Given the description of an element on the screen output the (x, y) to click on. 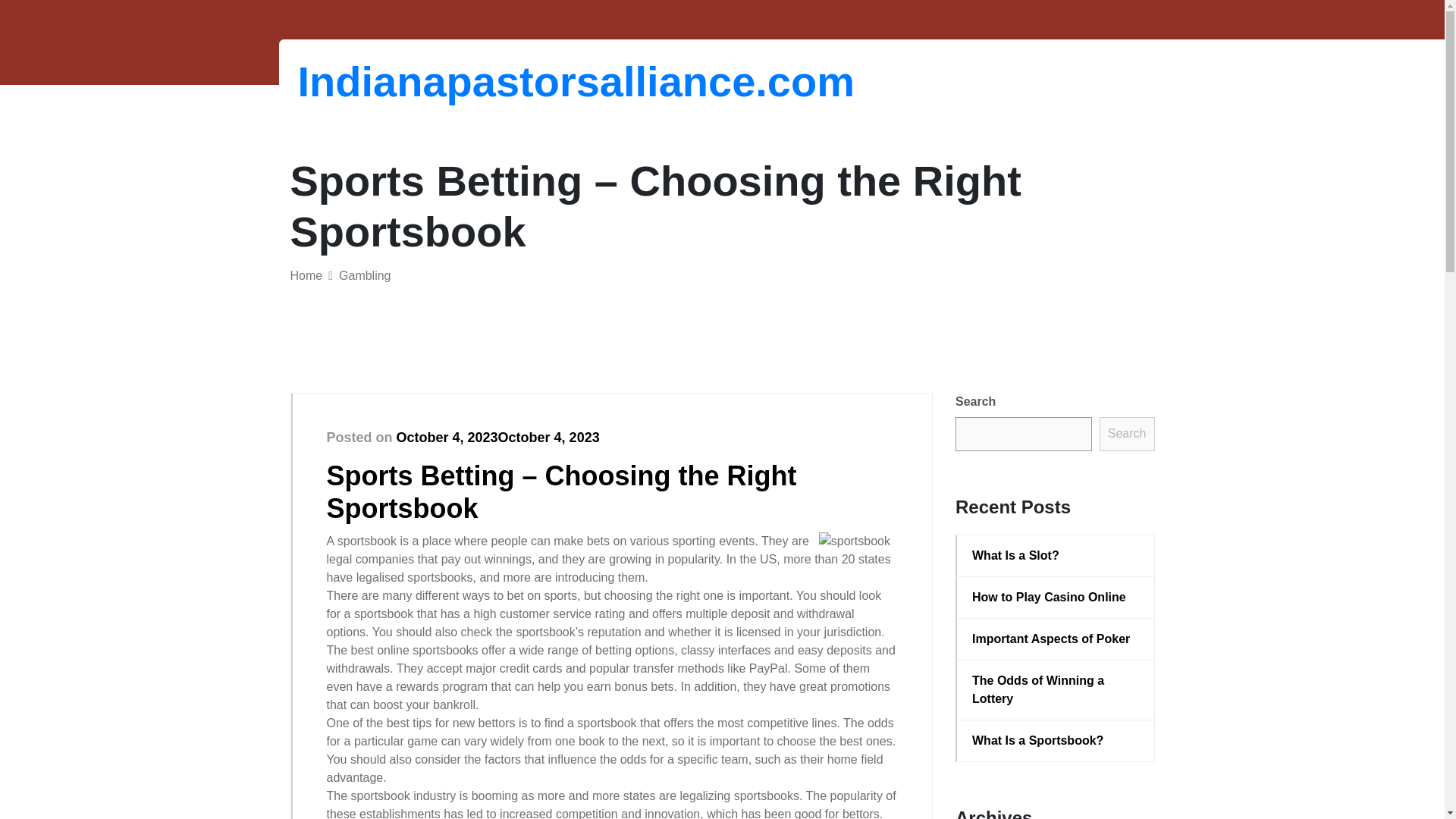
Home (305, 275)
What Is a Slot? (1055, 556)
Search (1126, 433)
What Is a Sportsbook? (1055, 741)
October 4, 2023October 4, 2023 (497, 437)
Gambling (364, 275)
Important Aspects of Poker (1055, 638)
How to Play Casino Online (1055, 597)
The Odds of Winning a Lottery (1055, 689)
Indianapastorsalliance.com (376, 81)
